Given the description of an element on the screen output the (x, y) to click on. 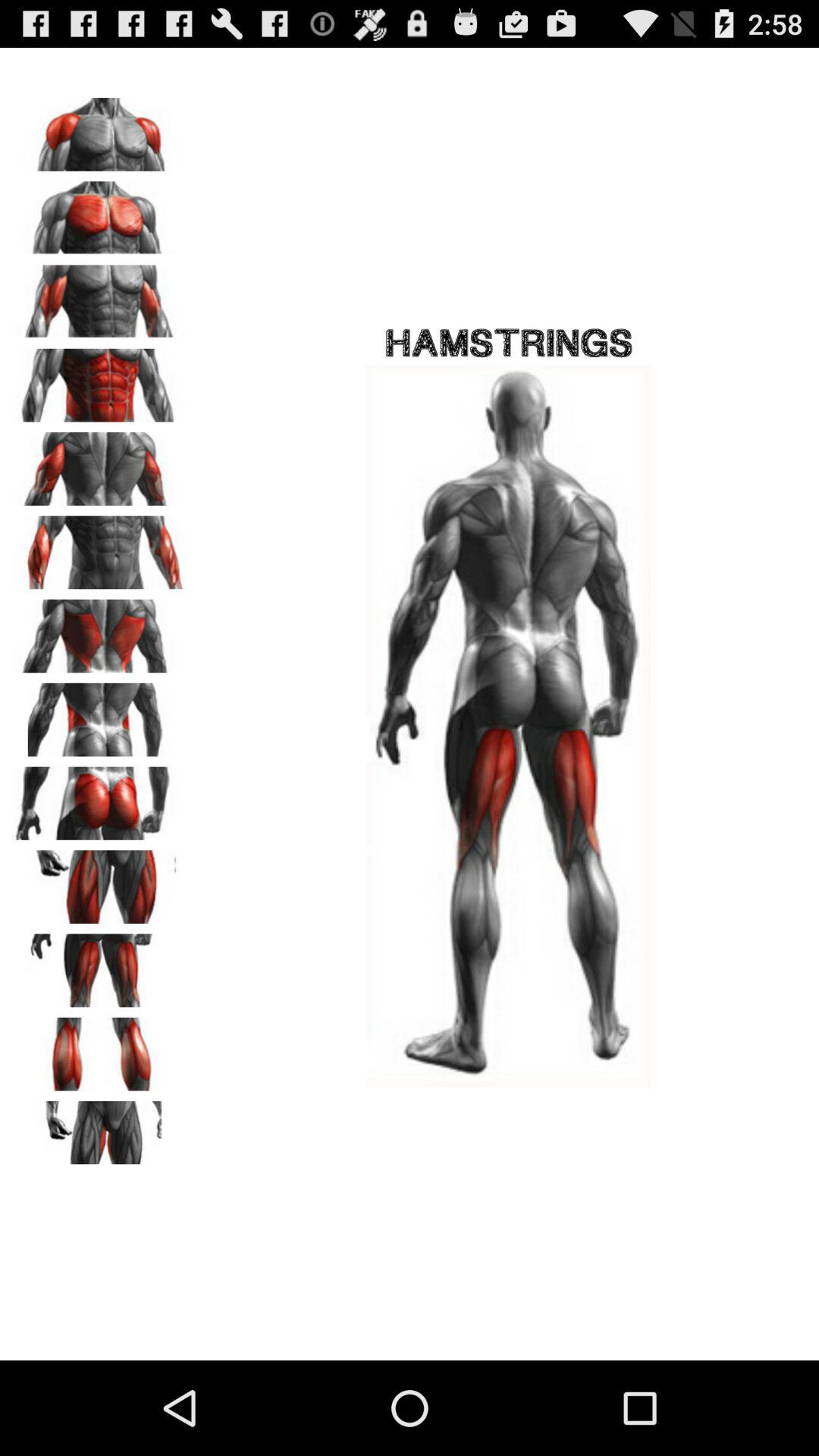
shows shoulder muscles (99, 129)
